Given the description of an element on the screen output the (x, y) to click on. 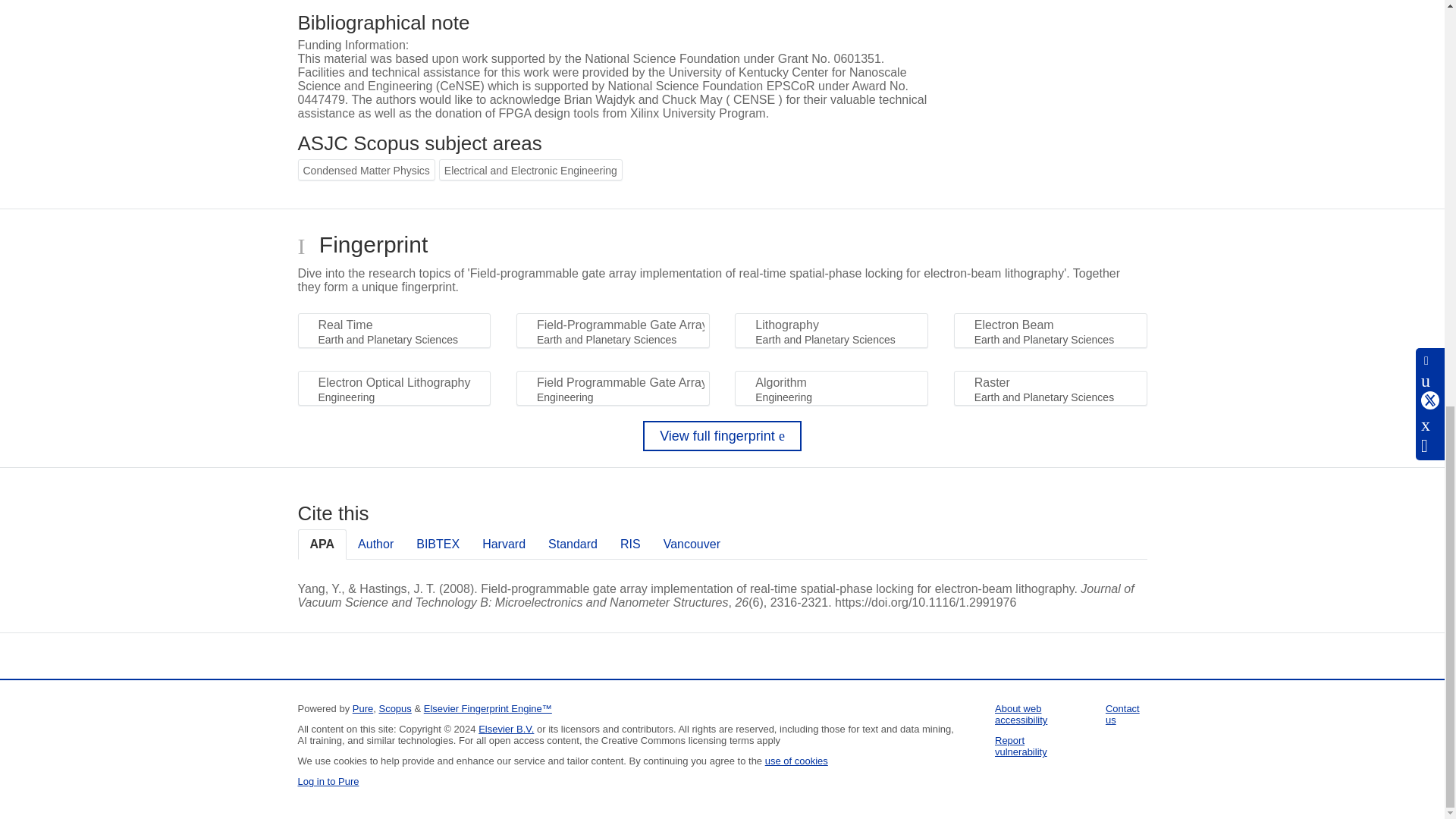
View full fingerprint (722, 435)
Scopus (394, 708)
Pure (362, 708)
